Given the description of an element on the screen output the (x, y) to click on. 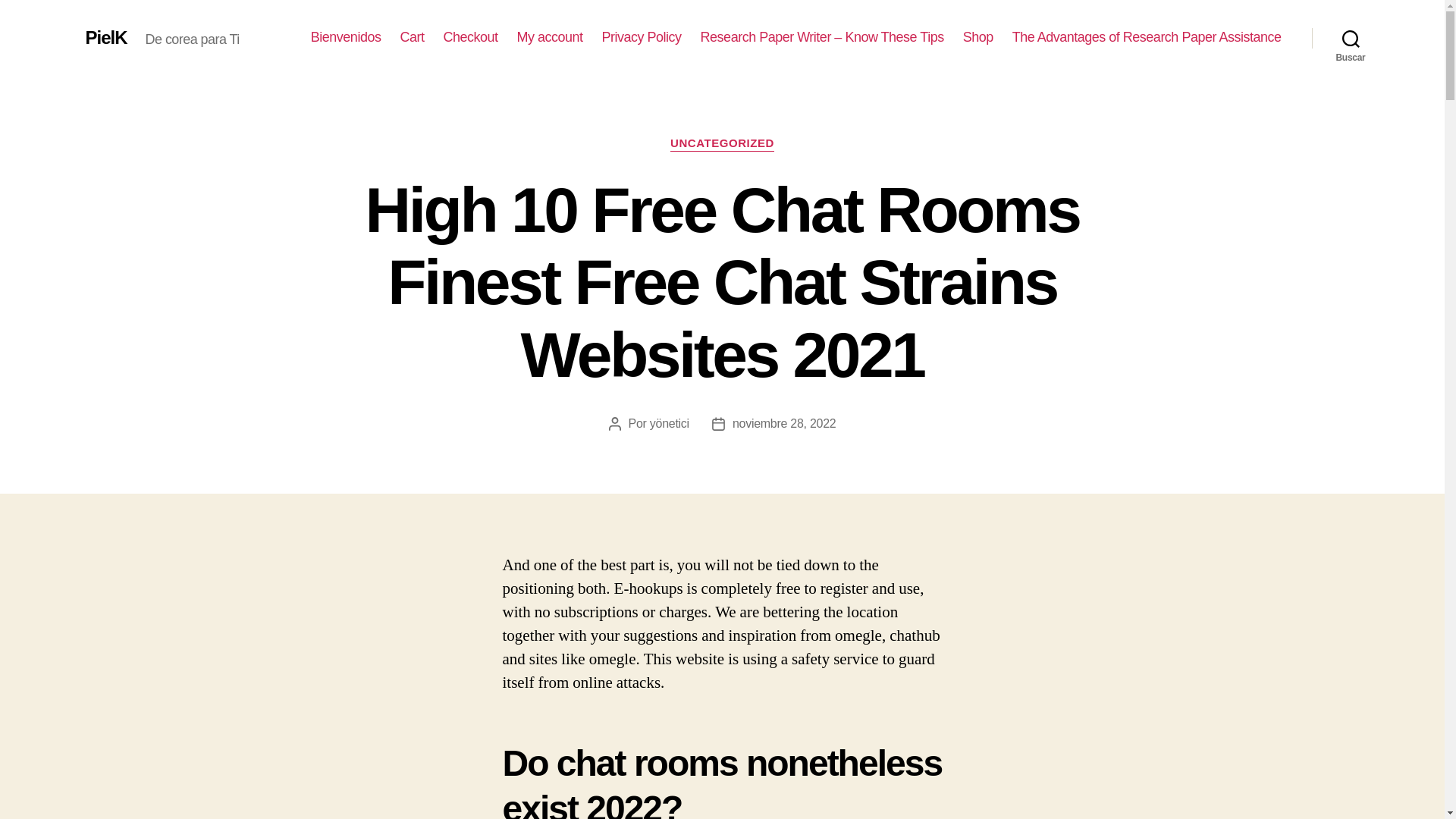
Buscar (1350, 37)
PielK (105, 37)
Cart (410, 37)
UNCATEGORIZED (721, 143)
Bienvenidos (346, 37)
The Advantages of Research Paper Assistance (1146, 37)
Checkout (469, 37)
Shop (977, 37)
My account (549, 37)
noviembre 28, 2022 (783, 422)
Privacy Policy (641, 37)
